Given the description of an element on the screen output the (x, y) to click on. 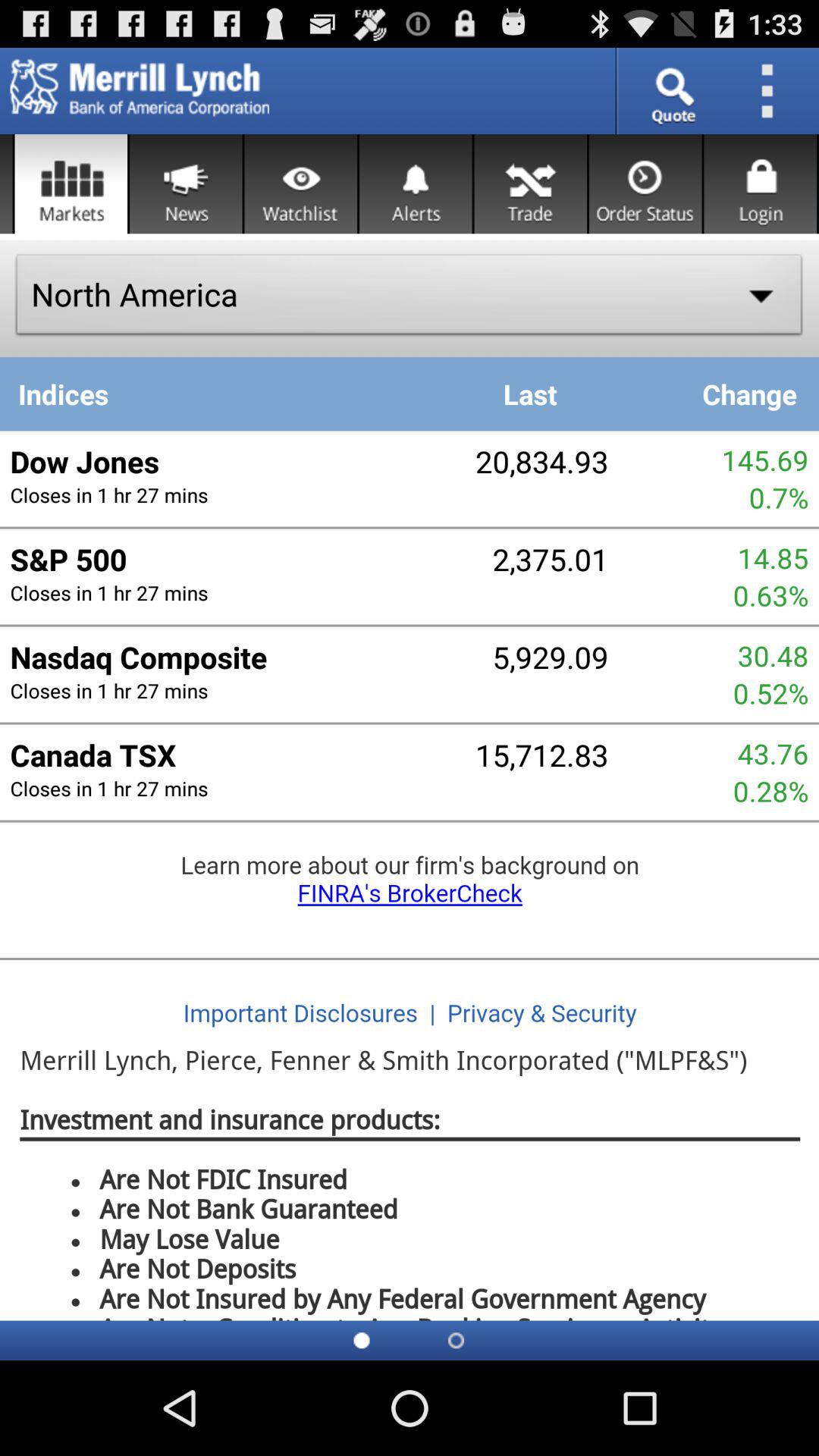
to go trade (530, 183)
